Given the description of an element on the screen output the (x, y) to click on. 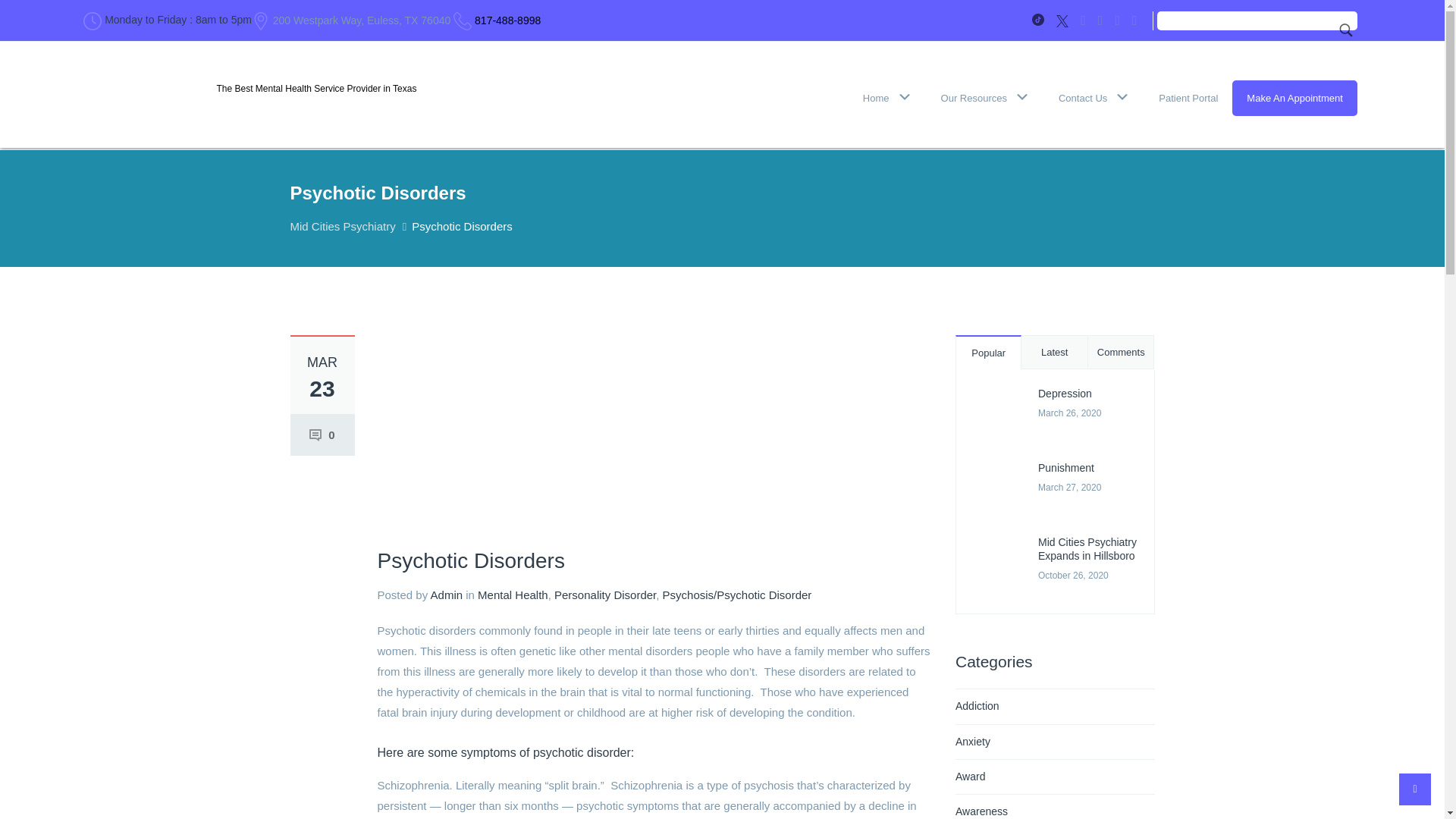
Our Resources (984, 98)
Make An Appointment (1293, 98)
Mid Cities Psychiatry (341, 226)
Search (1346, 29)
View all posts by Admin (446, 594)
Patient Portal (1187, 98)
Personality Disorder (605, 594)
Search (1346, 29)
Home (887, 98)
0 (321, 435)
